Given the description of an element on the screen output the (x, y) to click on. 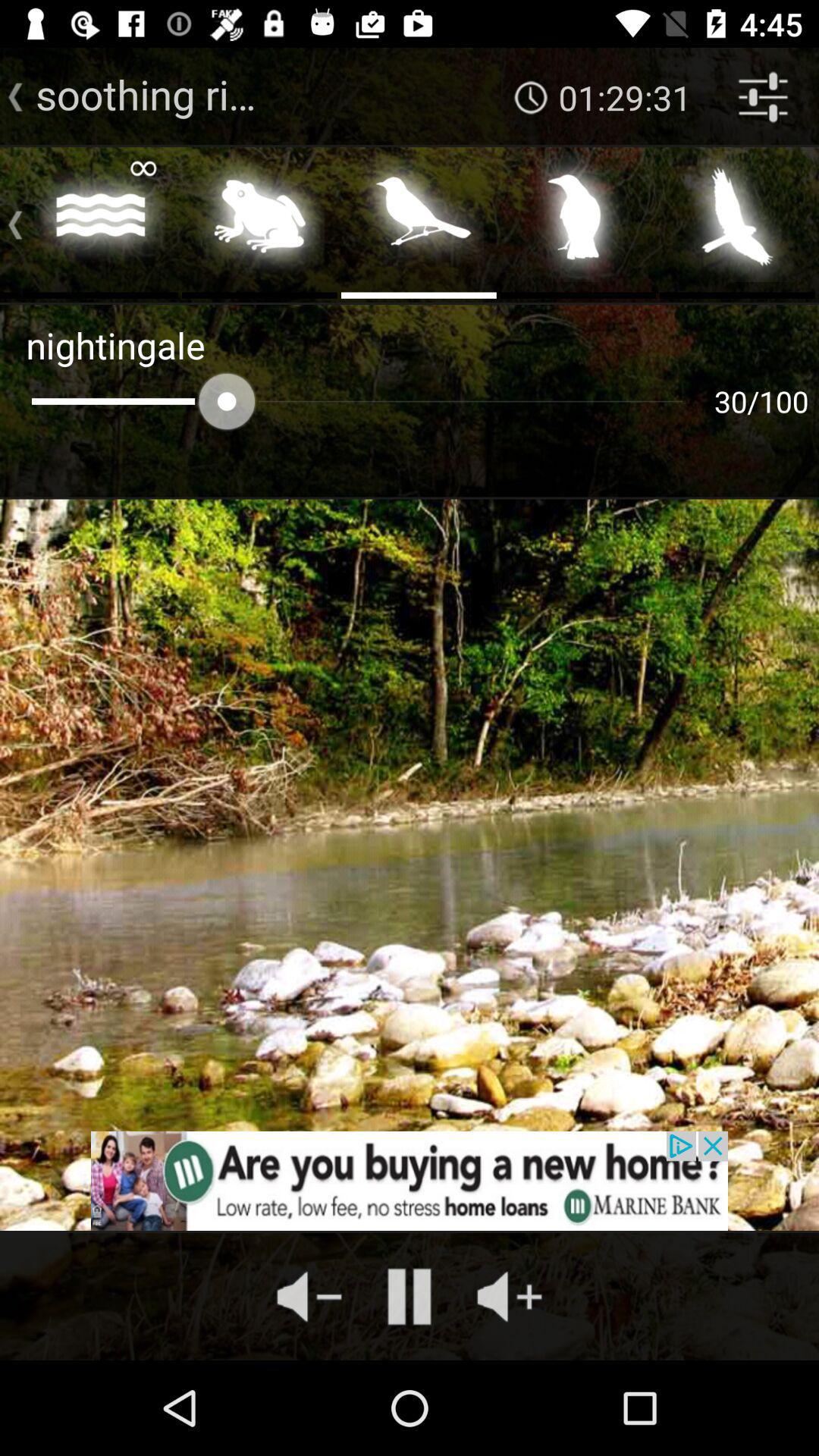
select bird (418, 221)
